Given the description of an element on the screen output the (x, y) to click on. 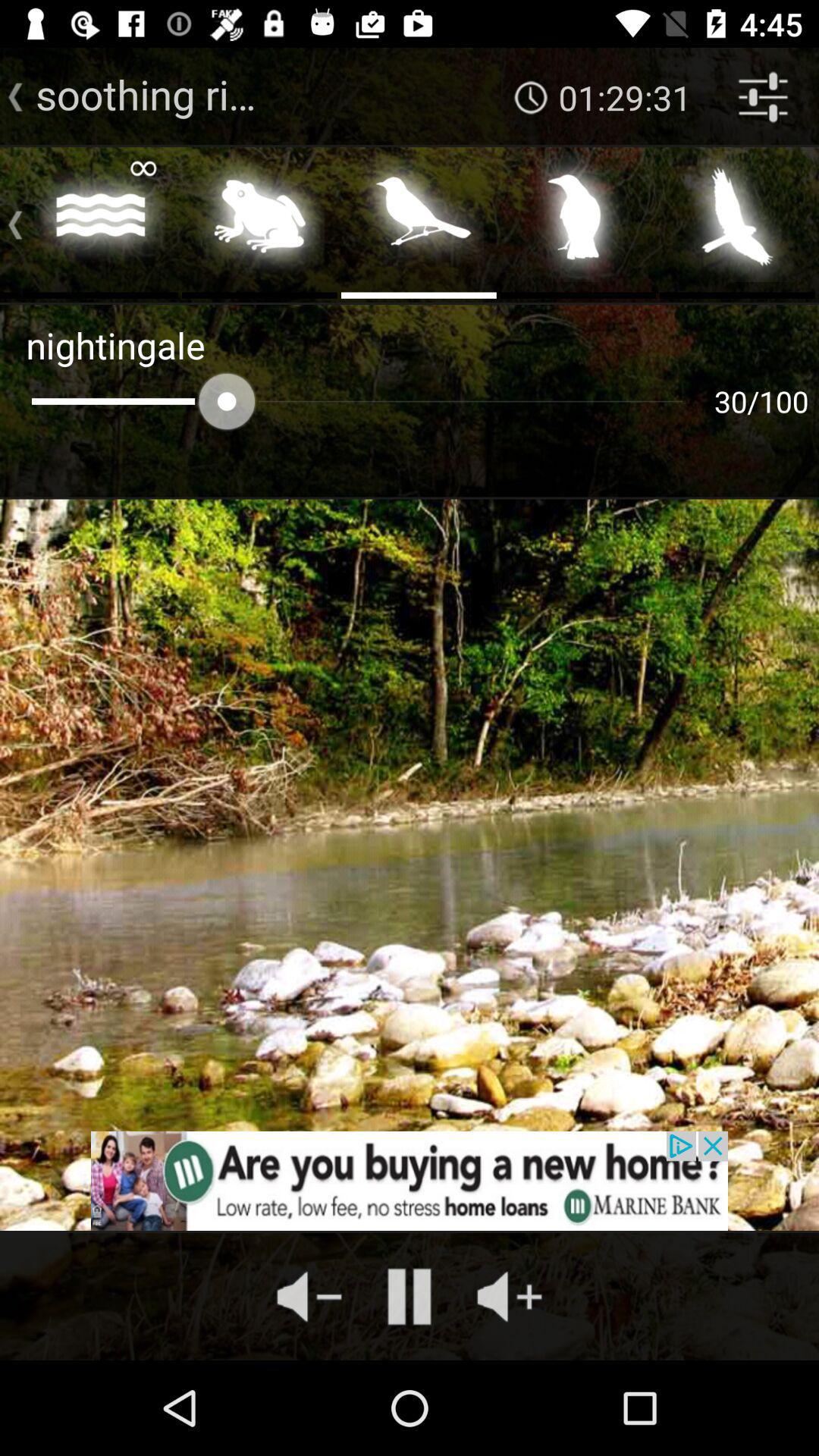
select bird (418, 221)
